Given the description of an element on the screen output the (x, y) to click on. 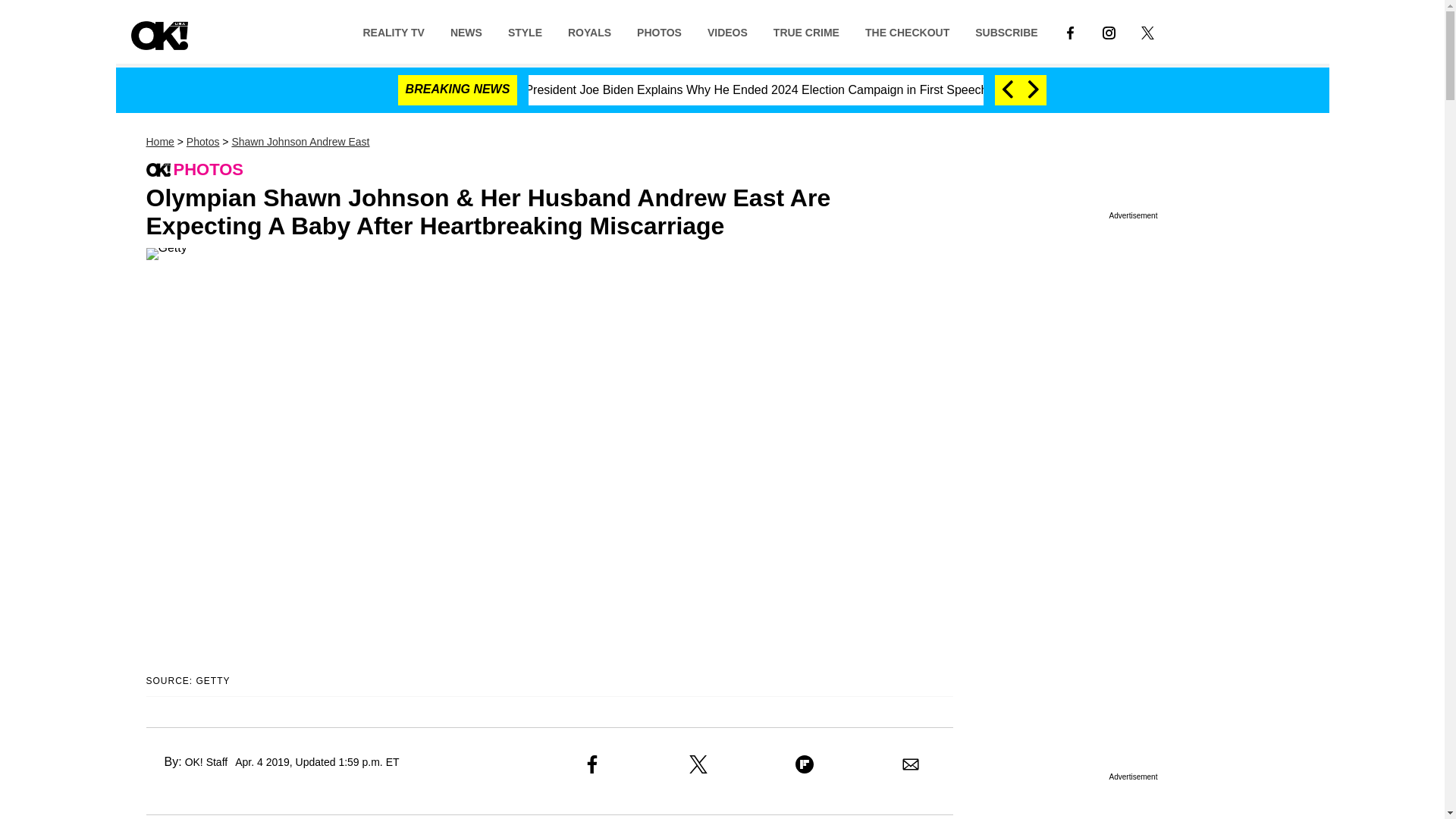
Home (159, 141)
ROYALS (589, 31)
LINK TO FACEBOOK (1070, 31)
LINK TO X (1147, 31)
LINK TO INSTAGRAM (1108, 32)
VIDEOS (727, 31)
Share to Email (909, 764)
NEWS (466, 31)
REALITY TV (392, 31)
Link to Instagram (1108, 31)
LINK TO INSTAGRAM (1108, 31)
Link to X (1147, 31)
Share to X (697, 764)
OK! Staff (206, 761)
TRUE CRIME (805, 31)
